Given the description of an element on the screen output the (x, y) to click on. 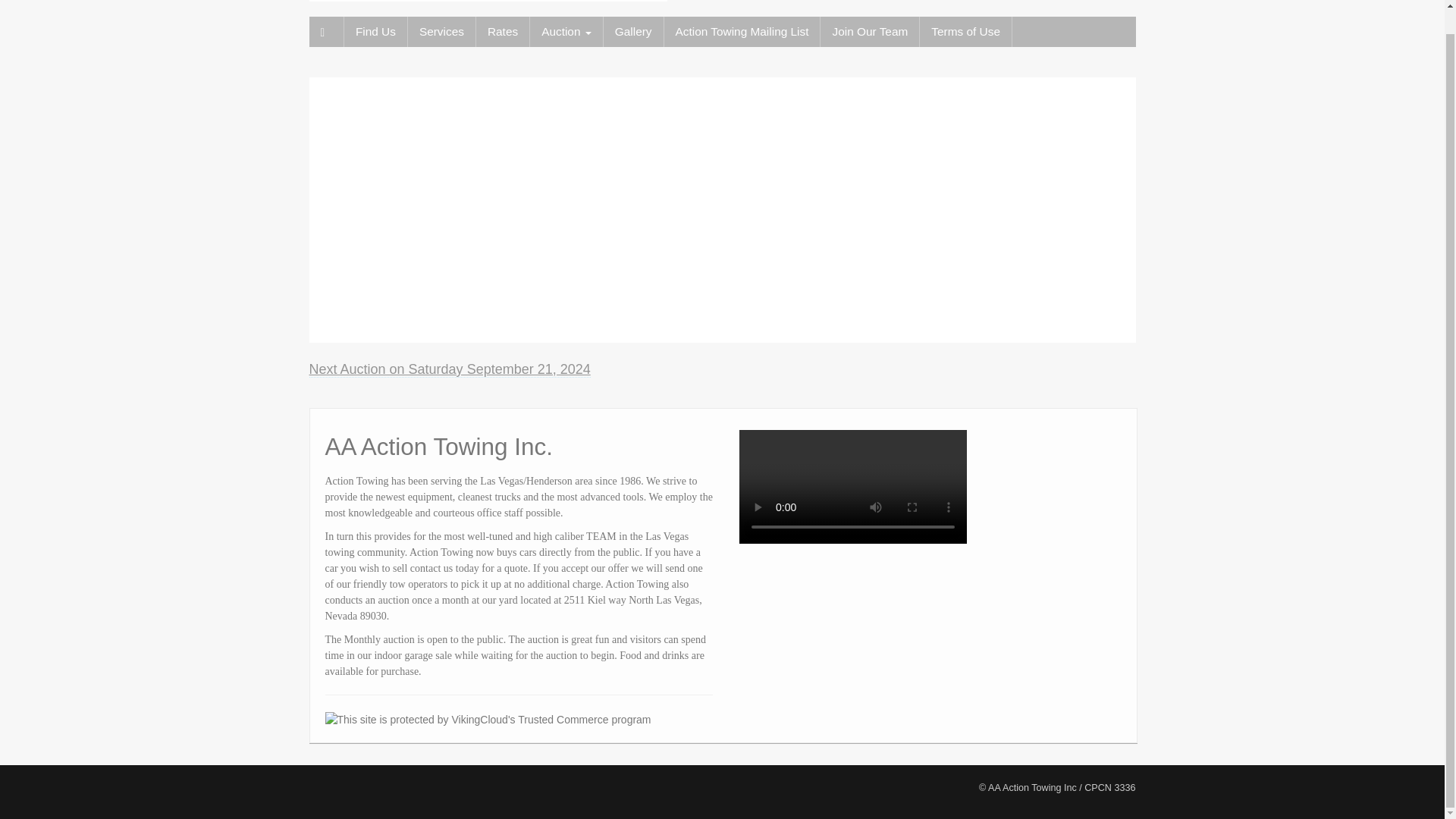
Action Towing Mailing List (742, 31)
Gallery (633, 31)
Find Us (375, 31)
Auction (565, 31)
Services (441, 31)
Terms of Use (965, 31)
Join Our Team (869, 31)
Rates (502, 31)
Next Auction on Saturday September 21, 2024 (449, 369)
